Given the description of an element on the screen output the (x, y) to click on. 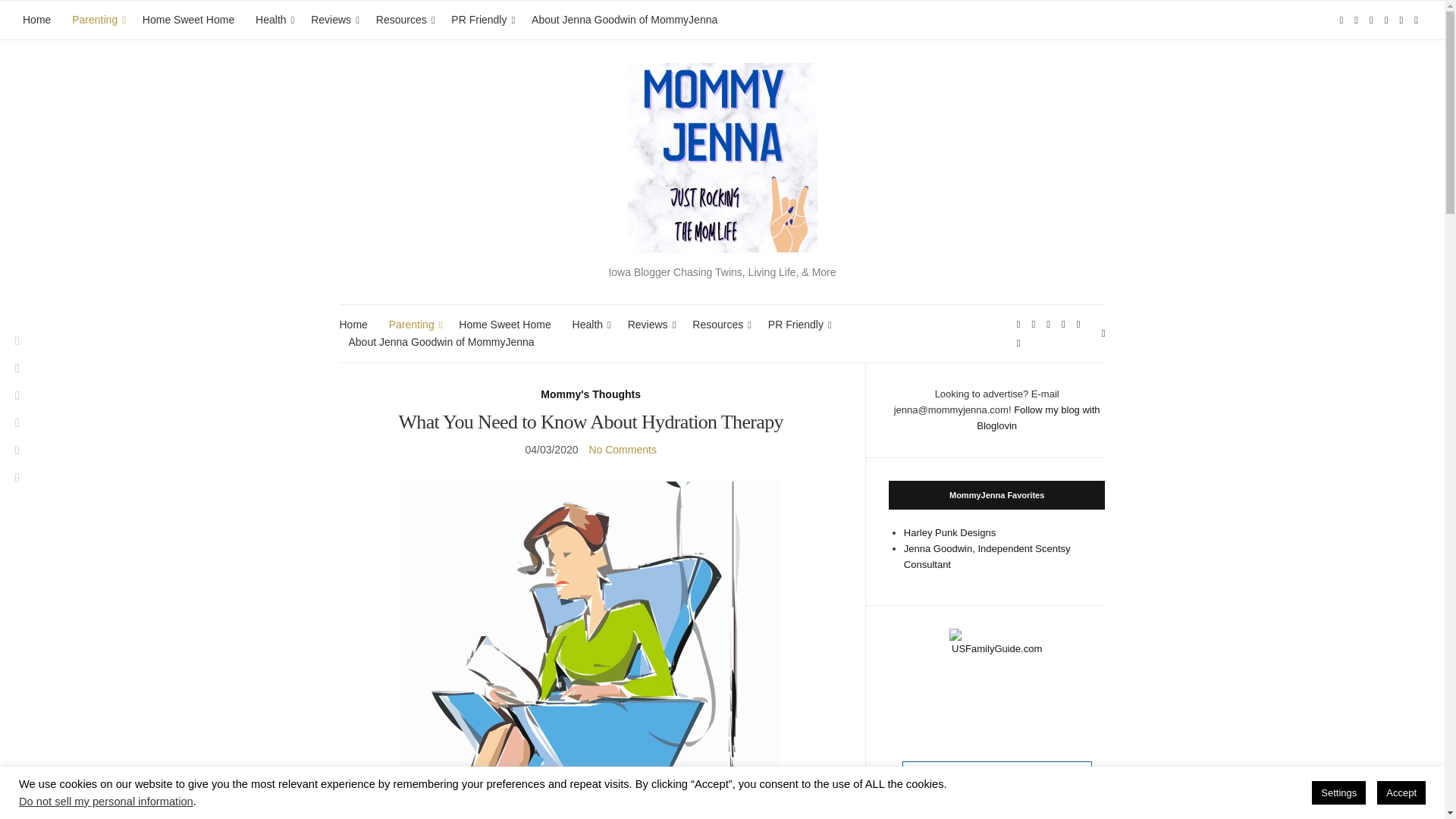
Home Sweet Home (504, 324)
Parenting (95, 19)
Health (272, 19)
Home Sweet Home (188, 19)
Home (36, 19)
PR Friendly (481, 19)
About Jenna Goodwin of MommyJenna (624, 19)
Home Fragrance, Decor, Gifts and more. (987, 556)
Parenting (413, 324)
What You Need to Know About Hydration Therapy 1 (590, 650)
